Given the description of an element on the screen output the (x, y) to click on. 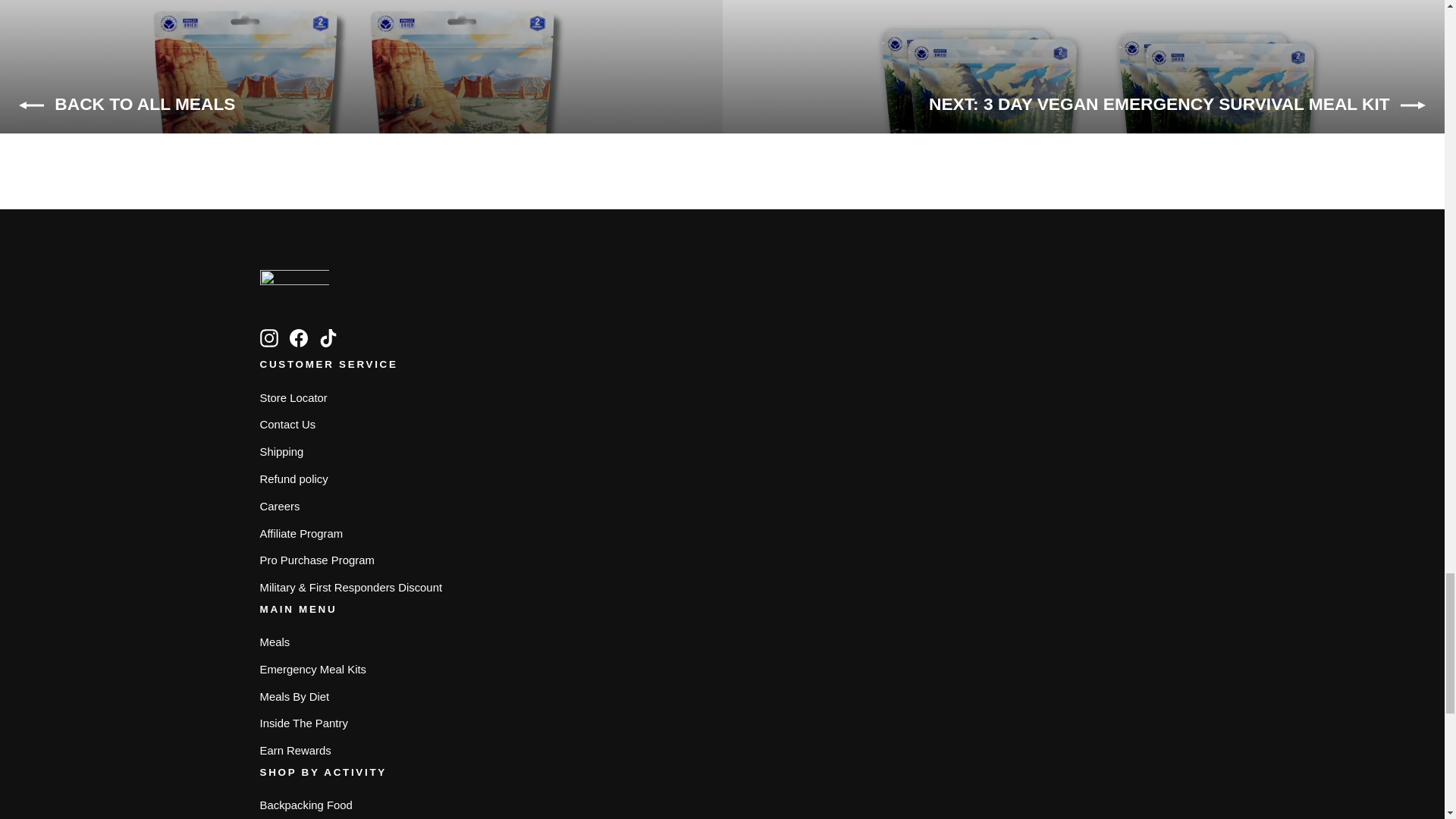
Backpacker's Pantry on Facebook (298, 338)
instagram (268, 338)
Backpacker's Pantry on Instagram (268, 338)
Backpacker's Pantry on TikTok (327, 338)
